Given the description of an element on the screen output the (x, y) to click on. 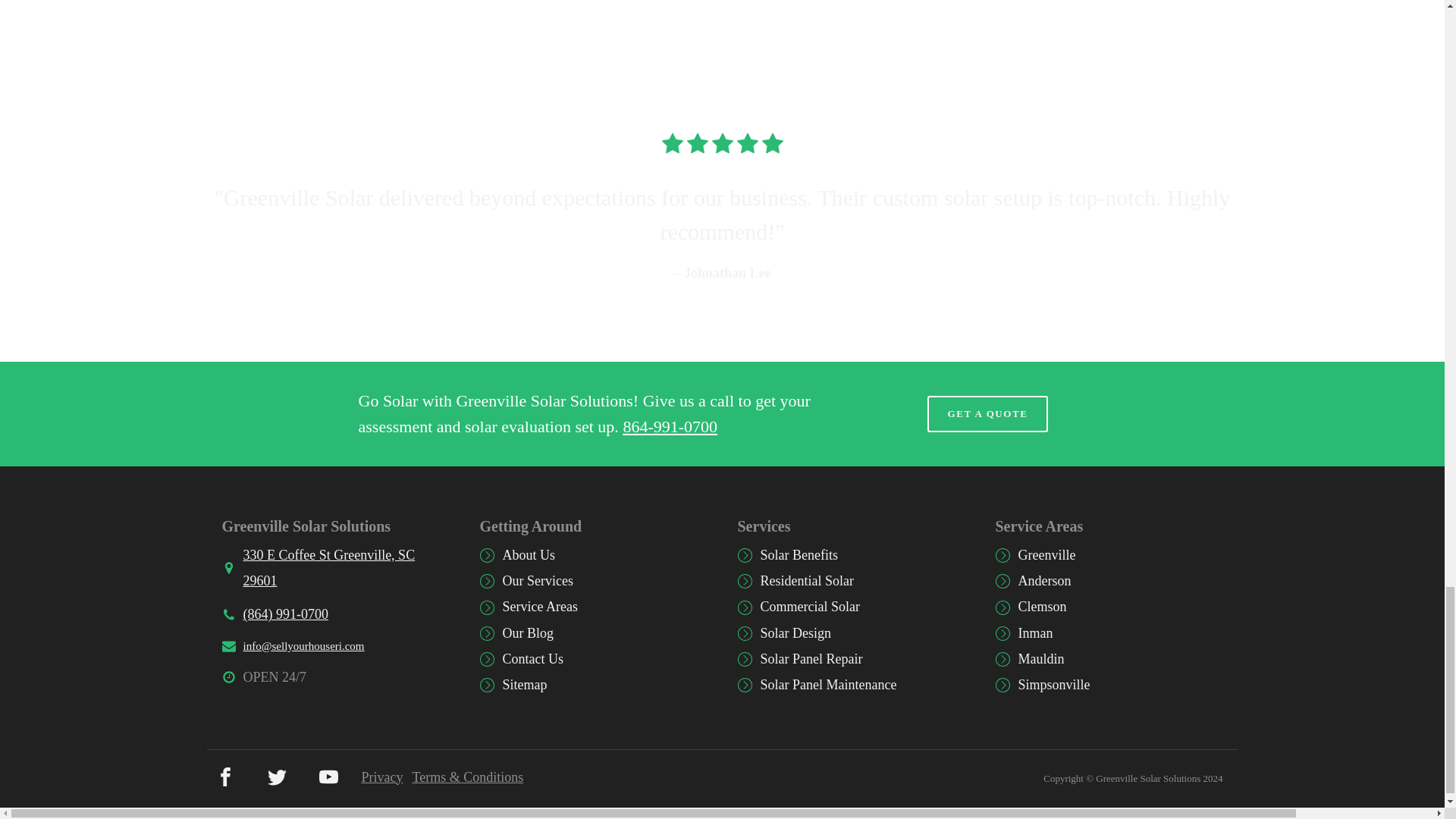
Our Blog (527, 632)
Solar Panel Repair (810, 658)
Residential Solar (806, 580)
Sitemap (524, 684)
Solar Design (795, 632)
About Us (528, 555)
864-991-0700 (670, 426)
Commercial Solar (809, 606)
Our Services (537, 580)
Service Areas (539, 606)
